Given the description of an element on the screen output the (x, y) to click on. 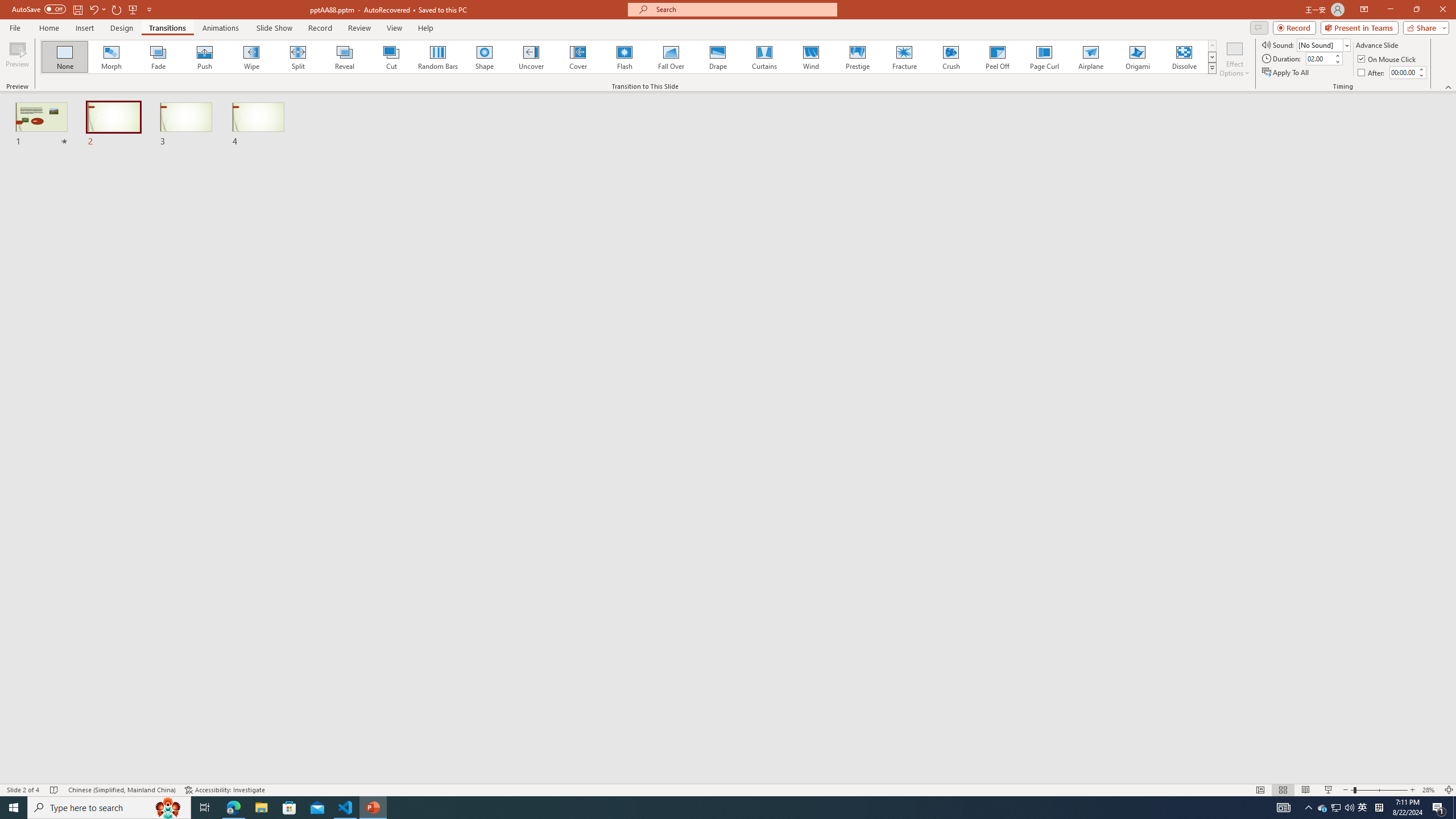
Morph (111, 56)
Drape (717, 56)
Wipe (251, 56)
Uncover (531, 56)
Shape (484, 56)
